Given the description of an element on the screen output the (x, y) to click on. 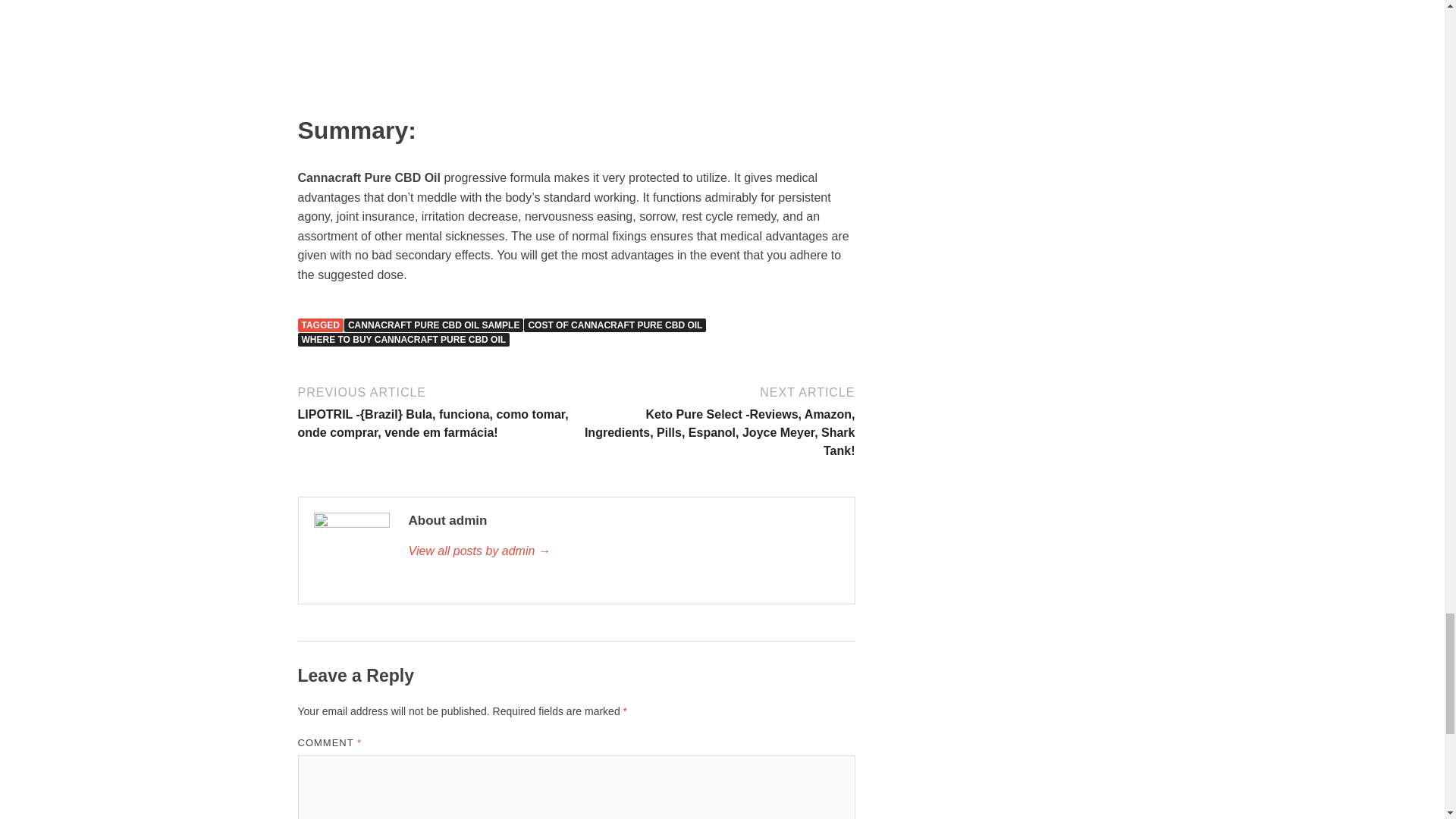
WHERE TO BUY CANNACRAFT PURE CBD OIL (403, 339)
CANNACRAFT PURE CBD OIL SAMPLE (432, 325)
COST OF CANNACRAFT PURE CBD OIL (615, 325)
Cannacraft Pure CBD Oil (575, 46)
admin (622, 551)
